Given the description of an element on the screen output the (x, y) to click on. 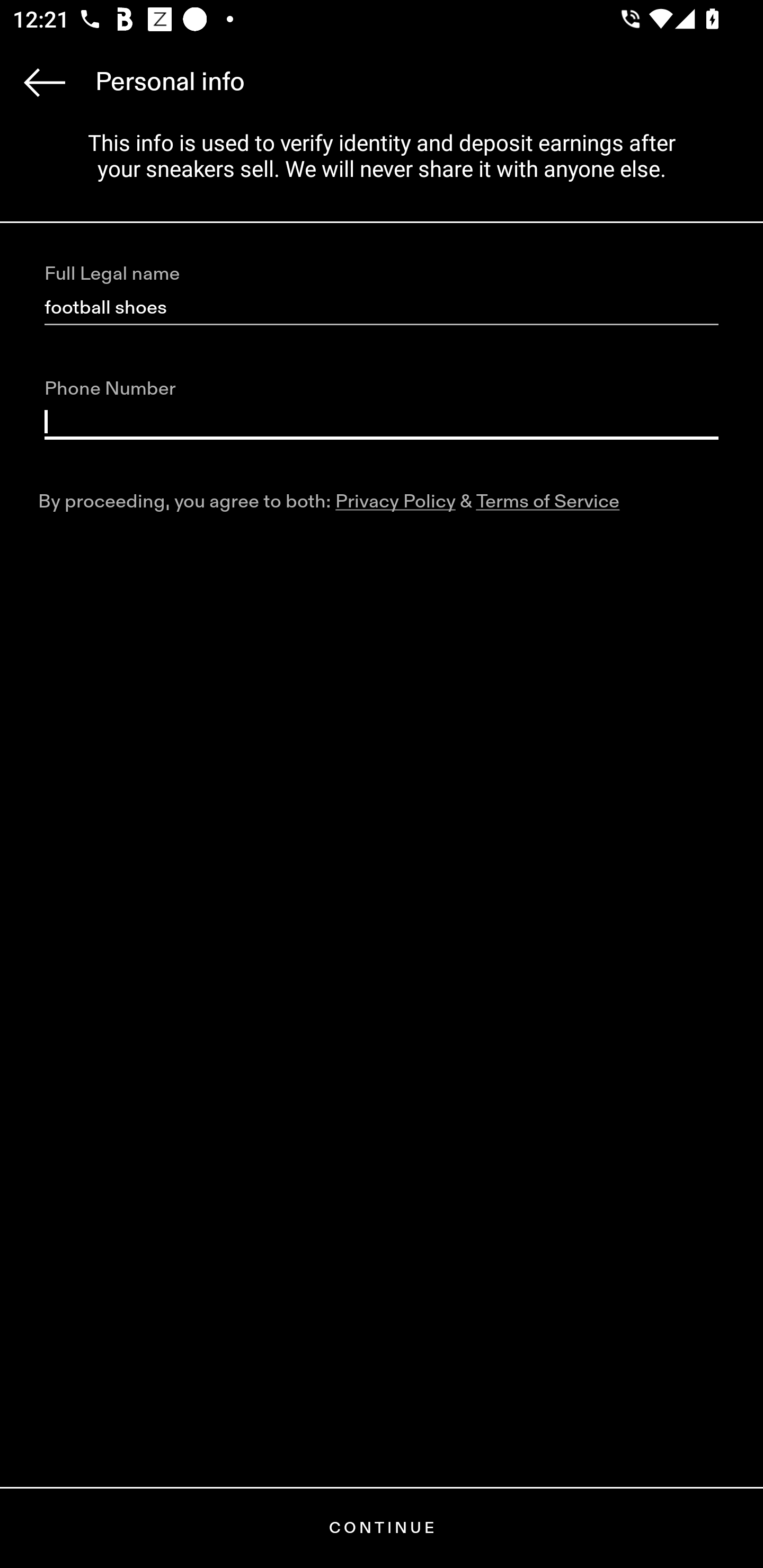
Navigate up (44, 82)
football shoes (381, 308)
Phone Number (381, 422)
CONTINUE (381, 1528)
